Given the description of an element on the screen output the (x, y) to click on. 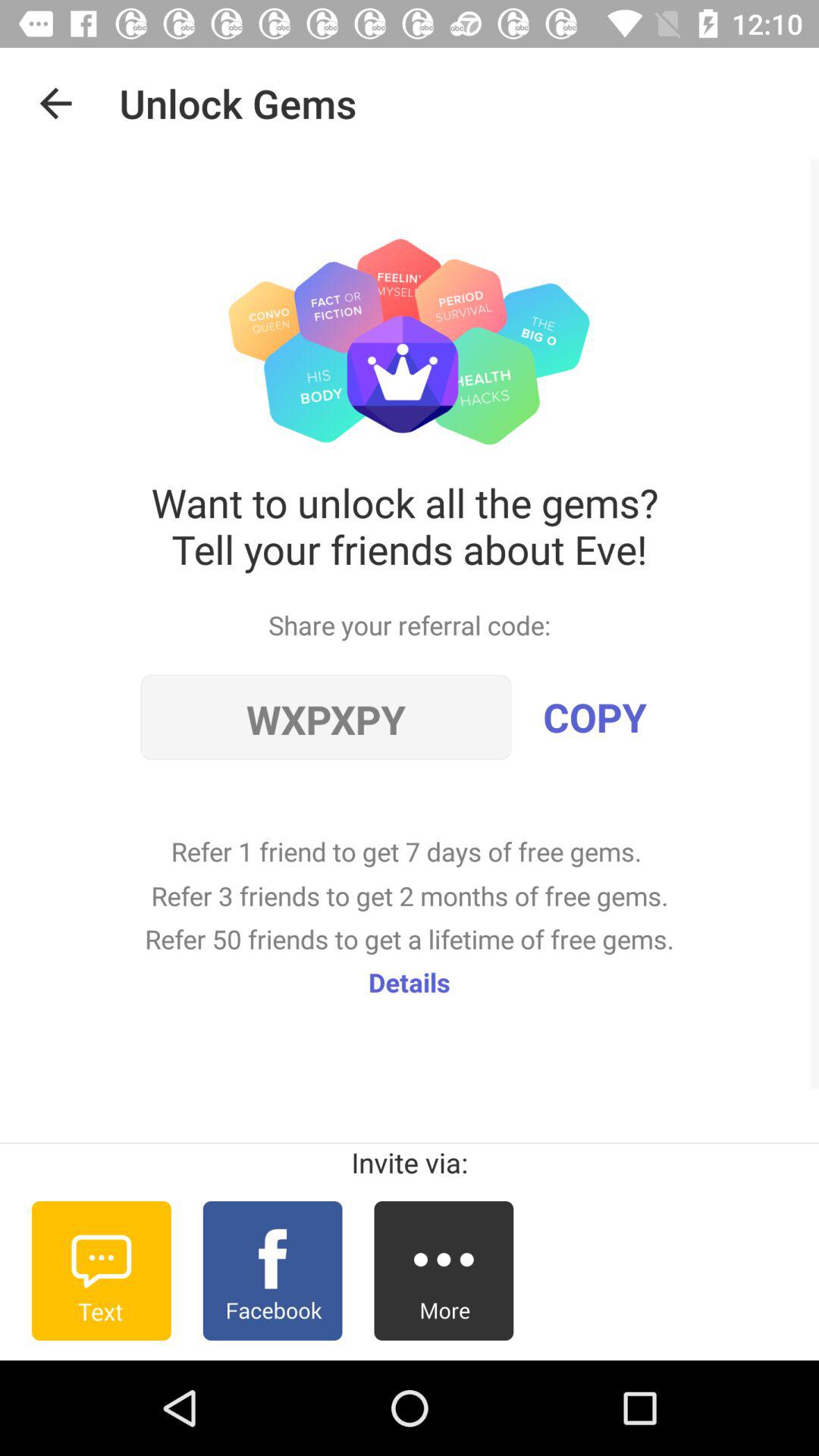
open the item above the want to unlock (55, 103)
